Given the description of an element on the screen output the (x, y) to click on. 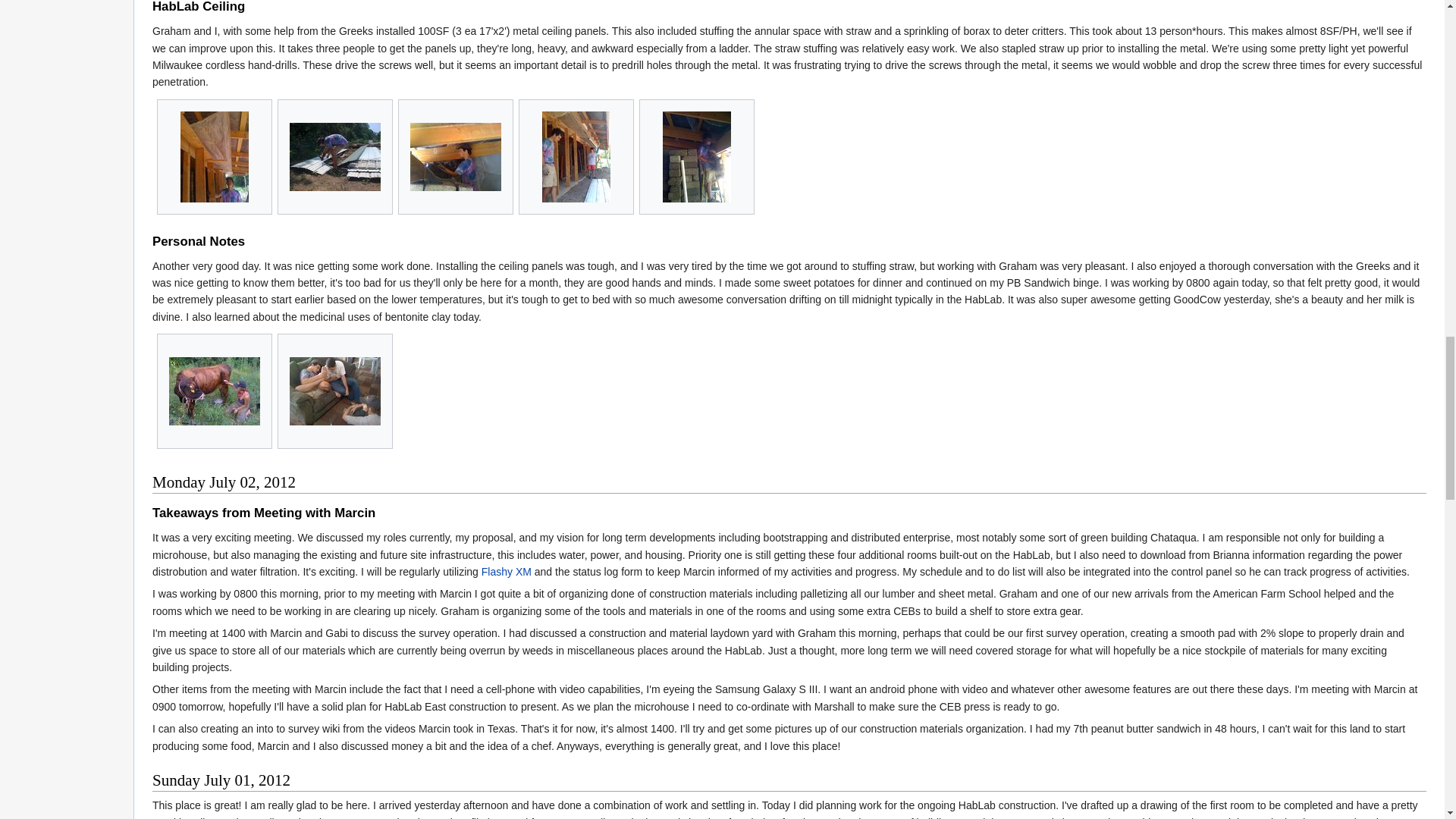
Flashy XM (506, 571)
Flashy XM (506, 571)
